Given the description of an element on the screen output the (x, y) to click on. 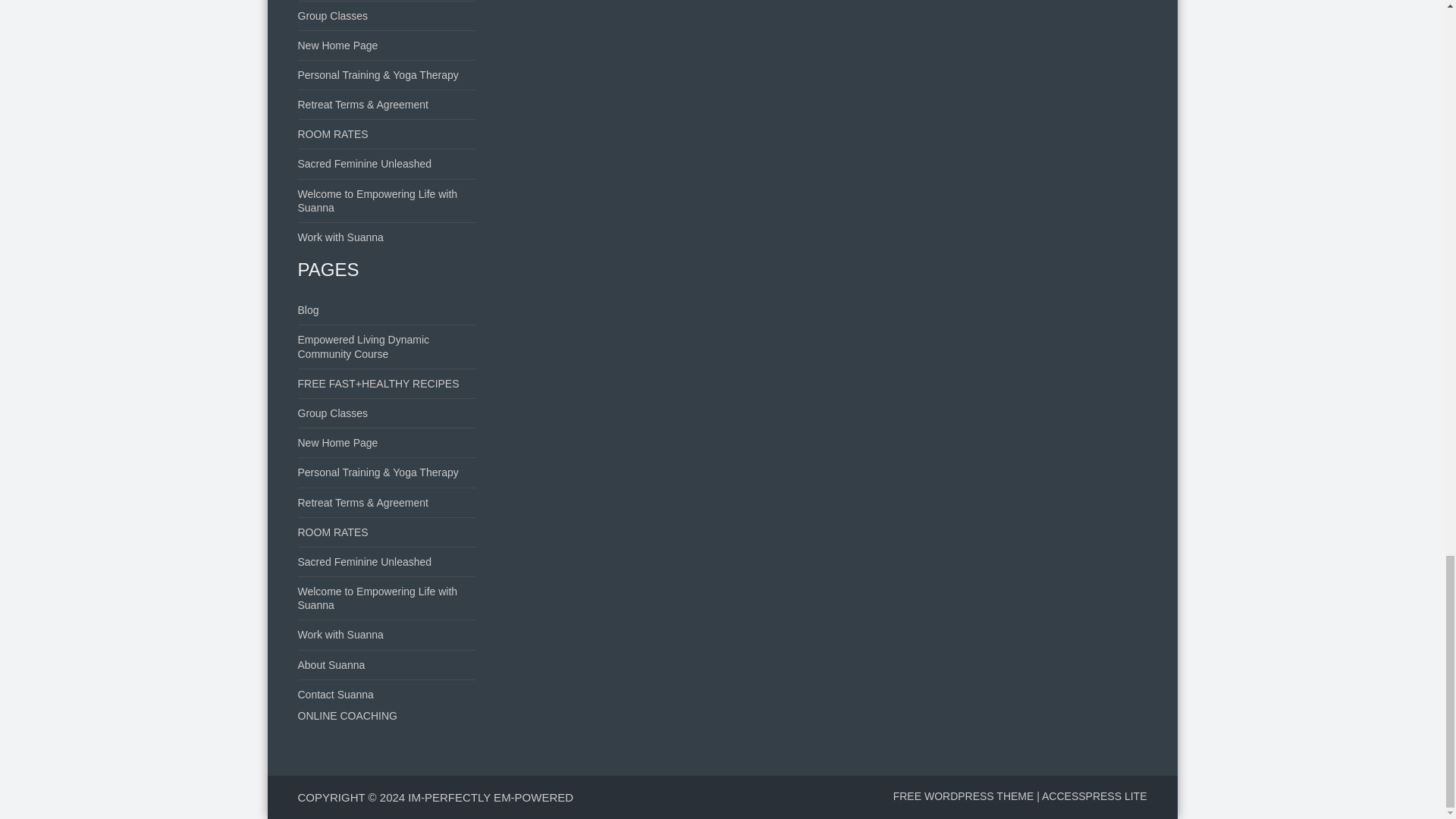
Welcome to Empowering Life with Suanna (377, 200)
Group Classes (332, 15)
Sacred Feminine Unleashed (363, 163)
New Home Page (337, 442)
Group Classes (332, 413)
ROOM RATES (332, 133)
AccessPress Themes (1094, 796)
Work with Suanna (339, 236)
New Home Page (337, 45)
Empowered Living Dynamic Community Course (363, 346)
